Given the description of an element on the screen output the (x, y) to click on. 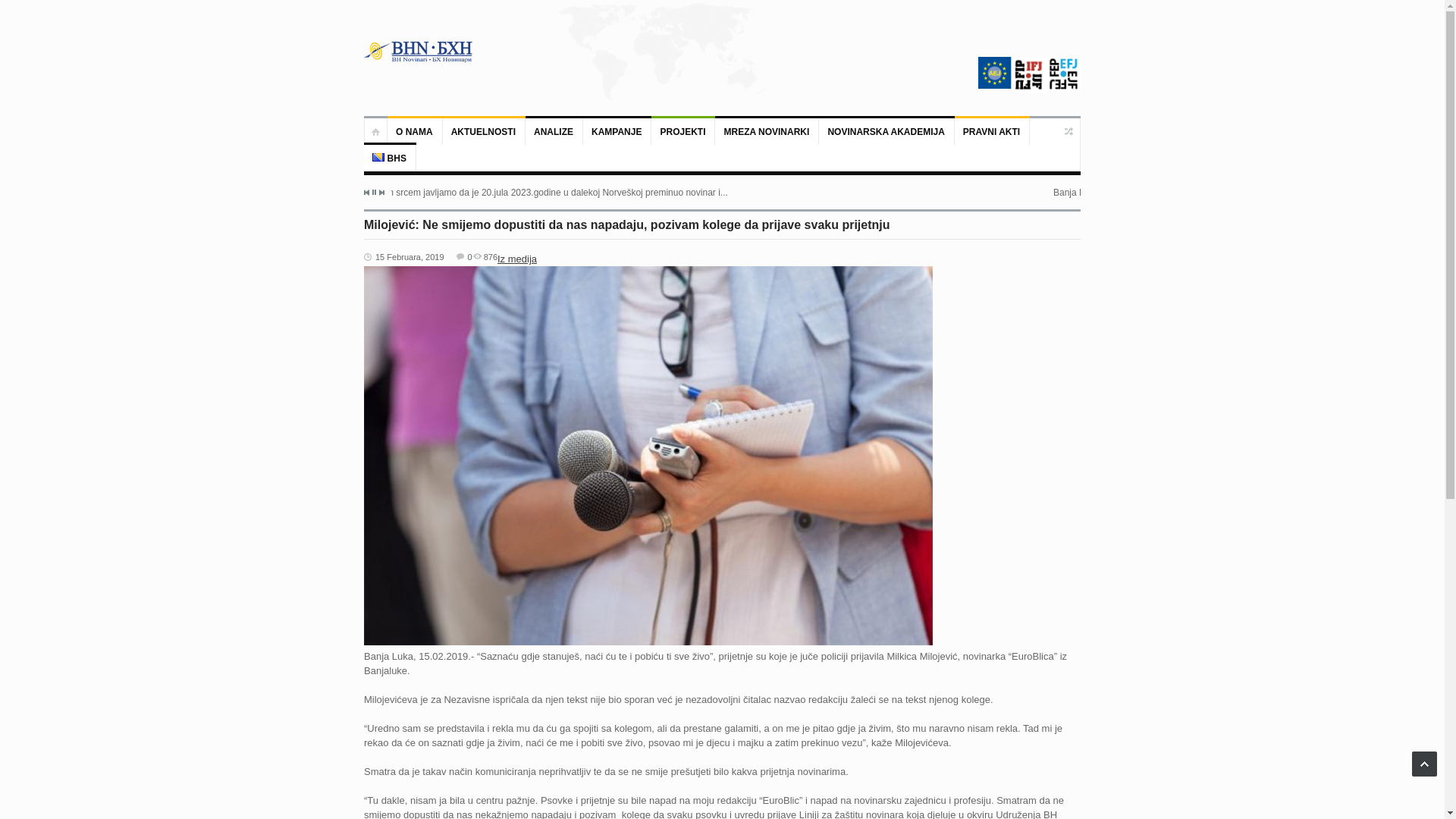
Previous Element type: text (366, 192)
NOVINARSKA AKADEMIJA Element type: text (886, 131)
PRAVNI AKTI Element type: text (991, 131)
Iz medija Element type: text (516, 258)
PROJEKTI Element type: text (683, 131)
Next Element type: text (381, 192)
ANALIZE Element type: text (554, 131)
AKTUELNOSTI Element type: text (483, 131)
0 Element type: text (464, 256)
Pause Element type: text (374, 191)
MREZA NOVINARKI Element type: text (767, 131)
O NAMA Element type: text (414, 131)
KAMPANJE Element type: text (617, 131)
BH novinari Element type: hover (419, 51)
BHS Element type: text (390, 157)
